Given the description of an element on the screen output the (x, y) to click on. 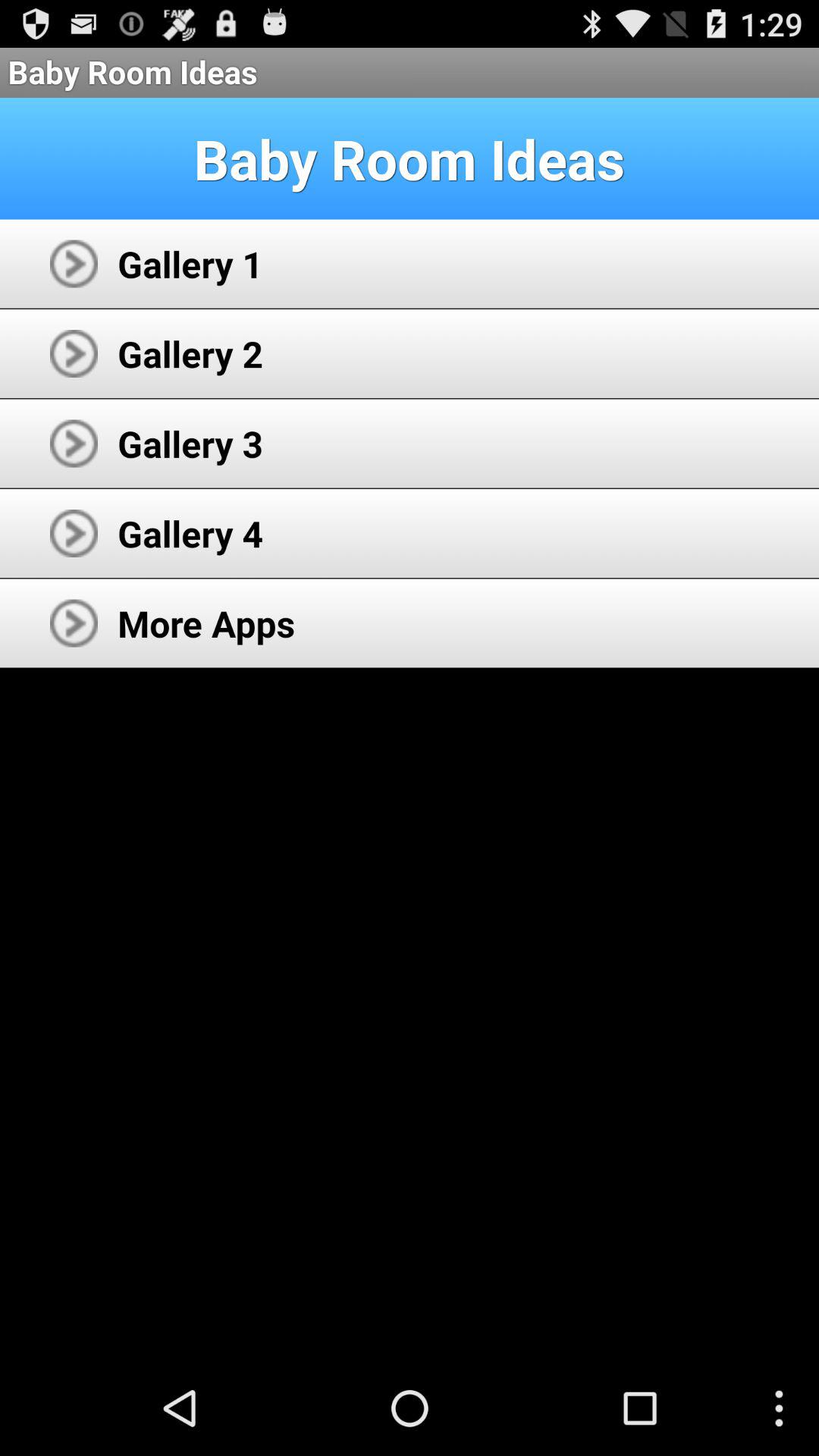
tap app above gallery 2 (190, 263)
